Given the description of an element on the screen output the (x, y) to click on. 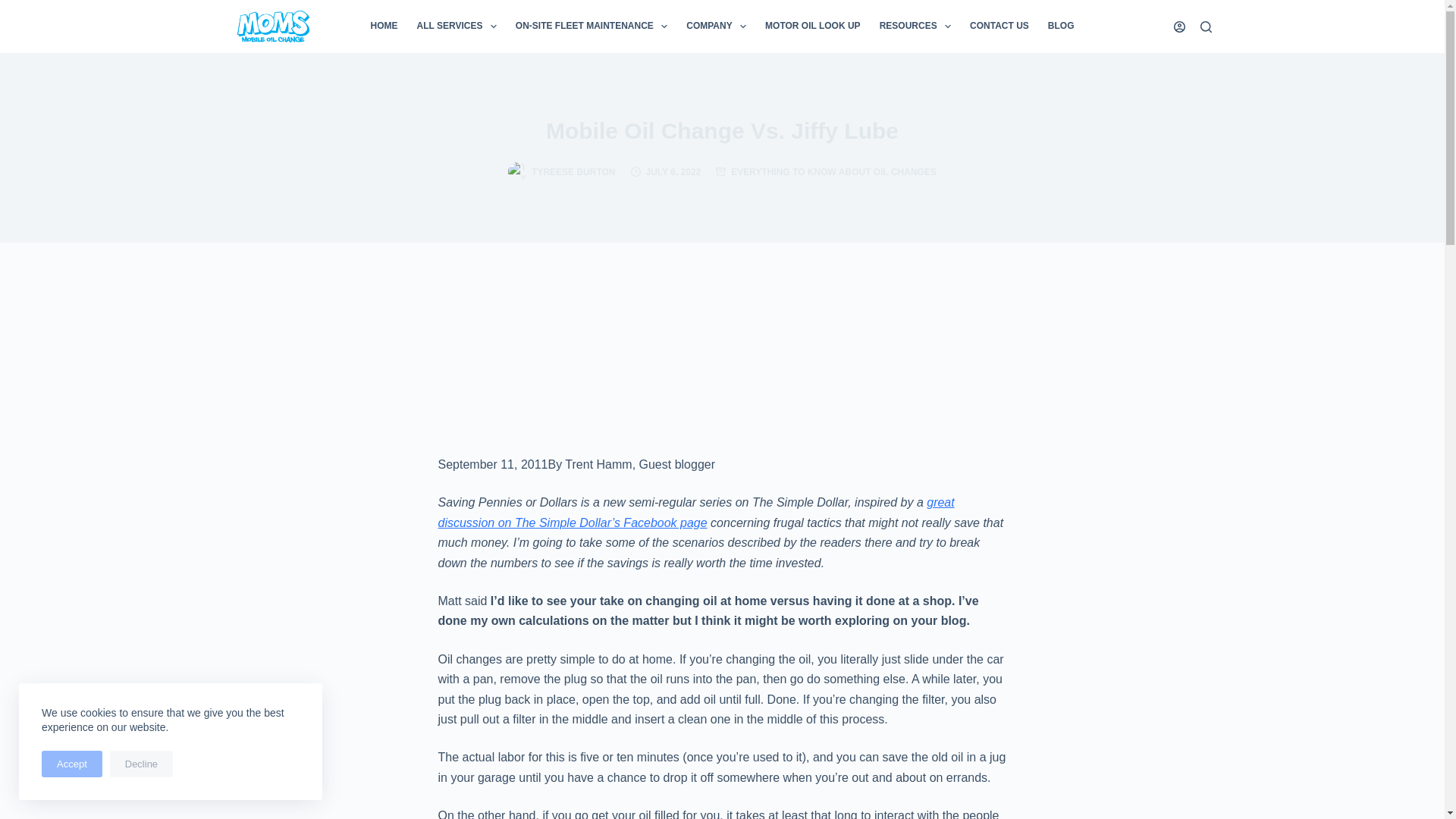
COMPANY (716, 26)
Accept (71, 764)
Posts by TYREESE BURTON (572, 172)
ALL SERVICES (456, 26)
HOME (384, 26)
ON-SITE FLEET MAINTENANCE (591, 26)
Skip to content (15, 7)
Decline (141, 764)
Mobile Oil change vs. Jiffy Lube (722, 130)
Advertisement (721, 371)
